Given the description of an element on the screen output the (x, y) to click on. 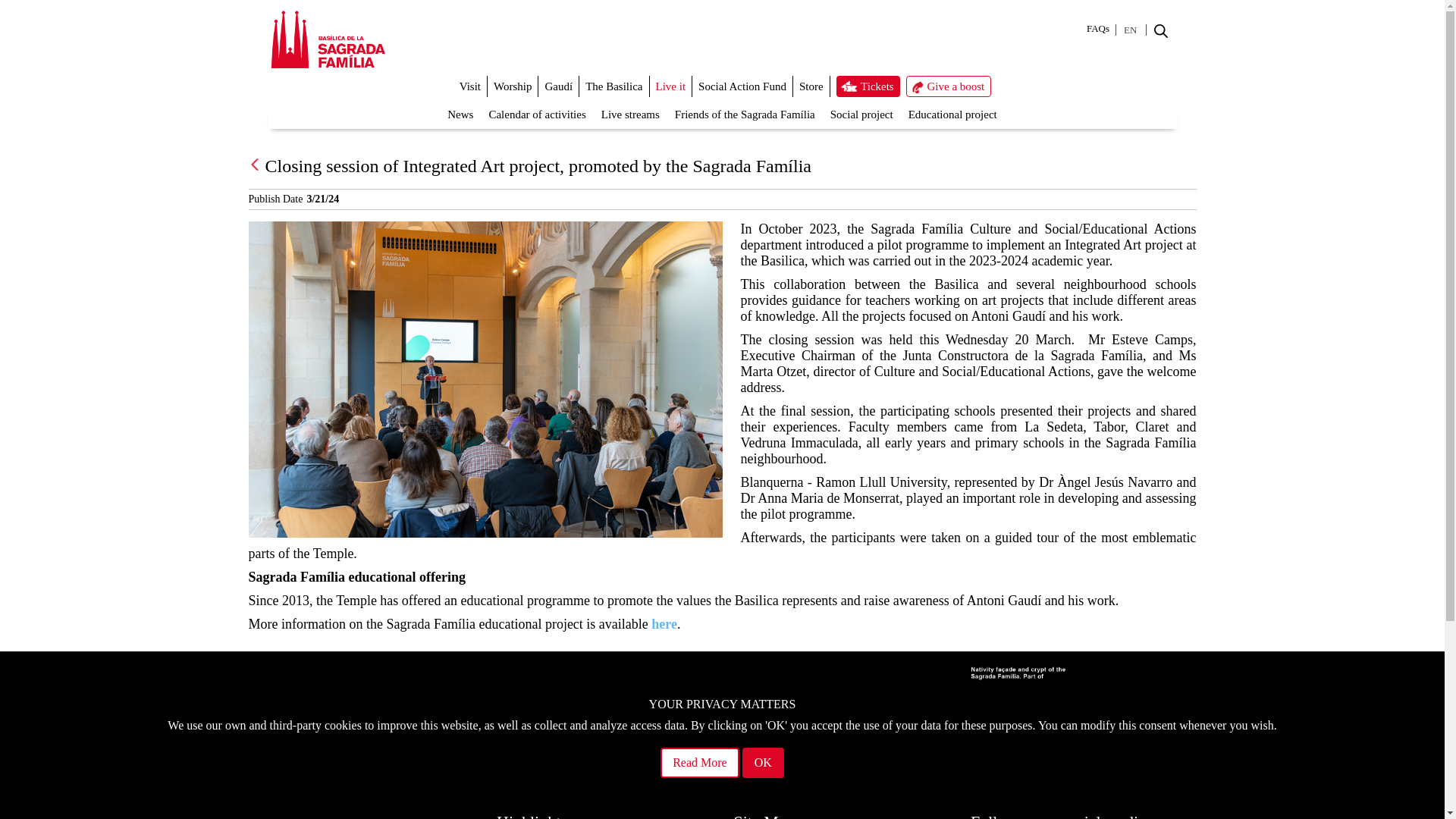
Go to Sagrada Familia (327, 43)
angle-left (254, 164)
